Given the description of an element on the screen output the (x, y) to click on. 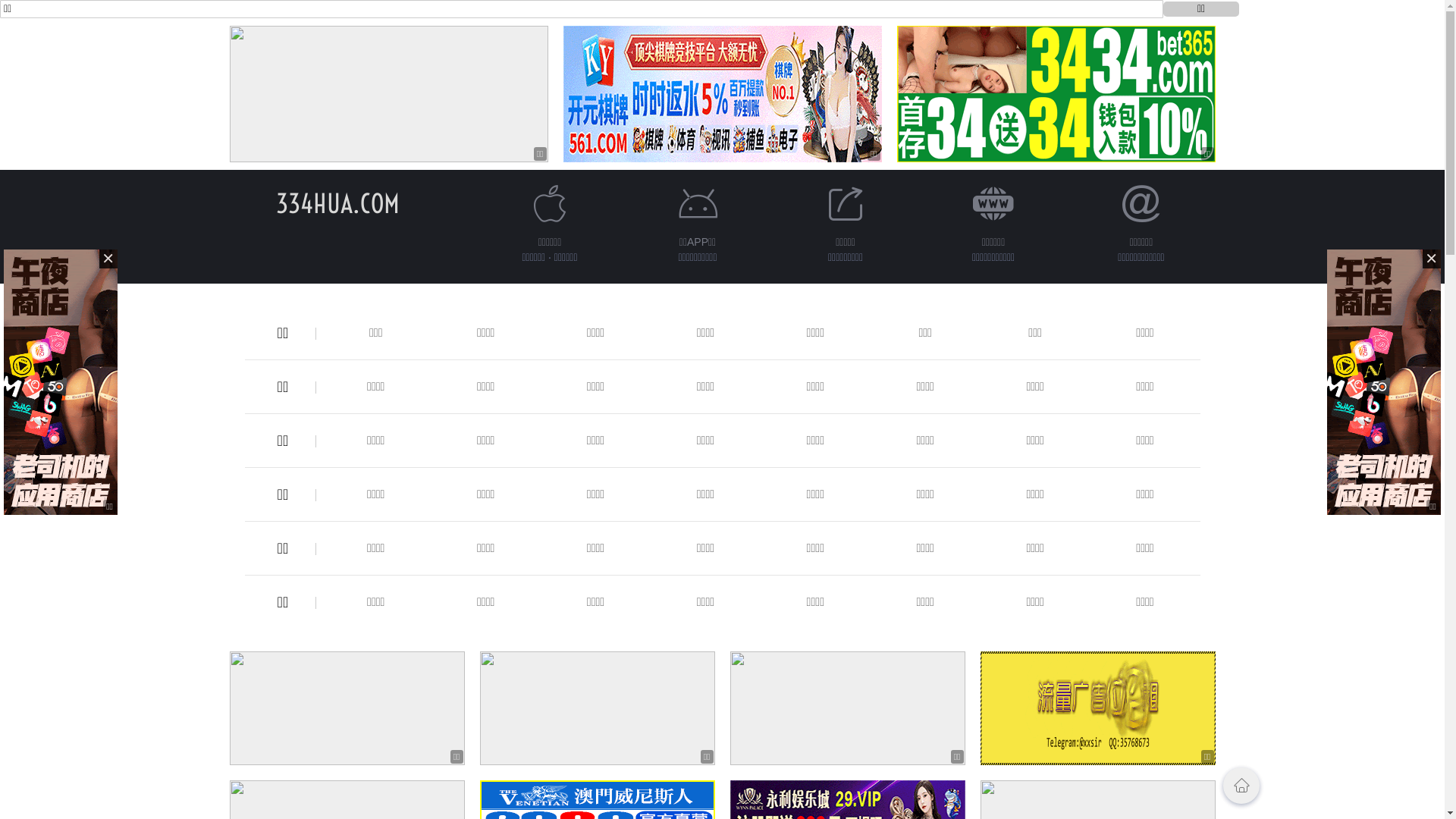
334HUA.COM Element type: text (337, 203)
